Given the description of an element on the screen output the (x, y) to click on. 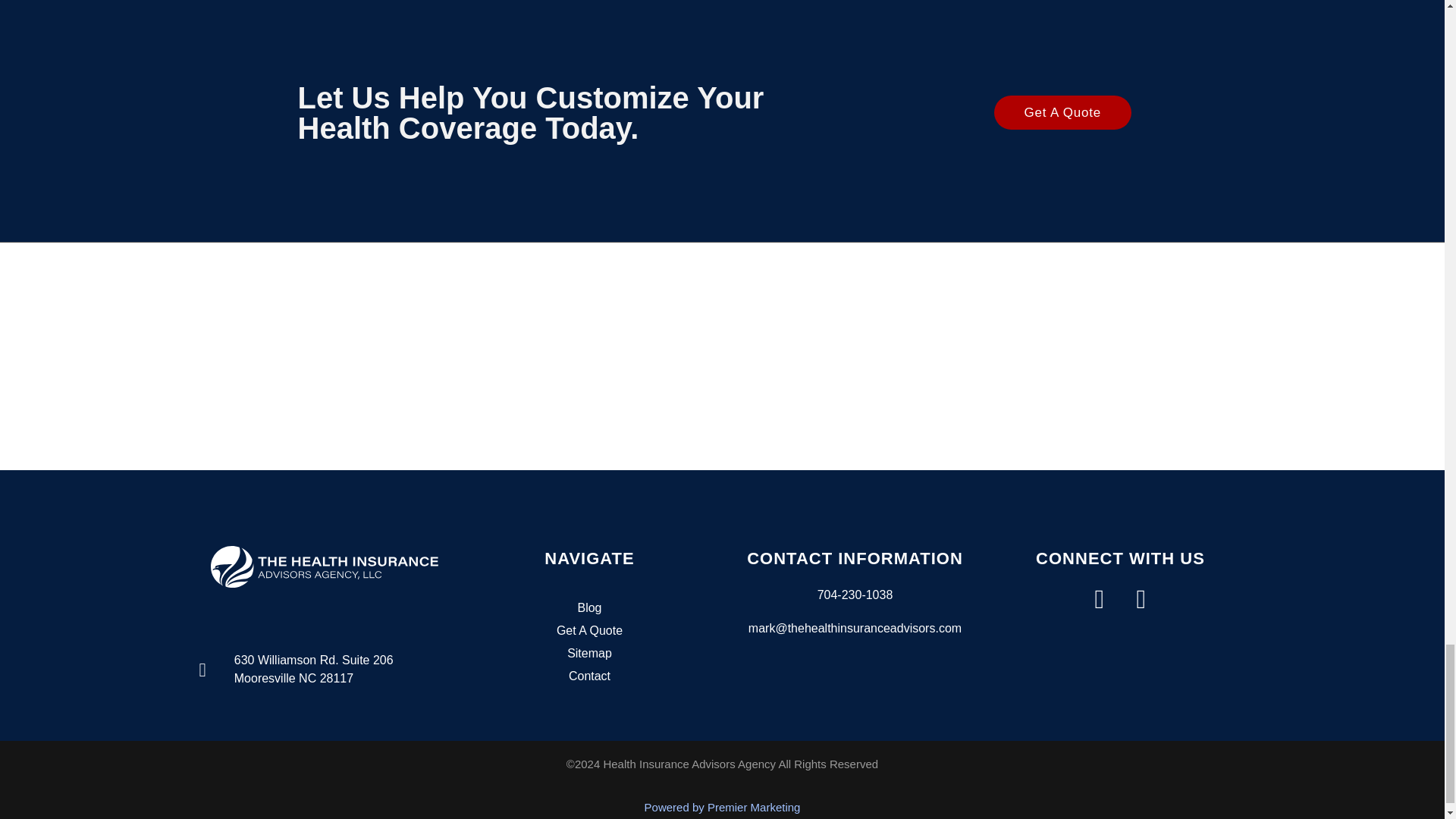
Blog (589, 608)
Get A Quote (589, 630)
Contact (589, 676)
Sitemap (589, 653)
Get A Quote (1062, 112)
